Given the description of an element on the screen output the (x, y) to click on. 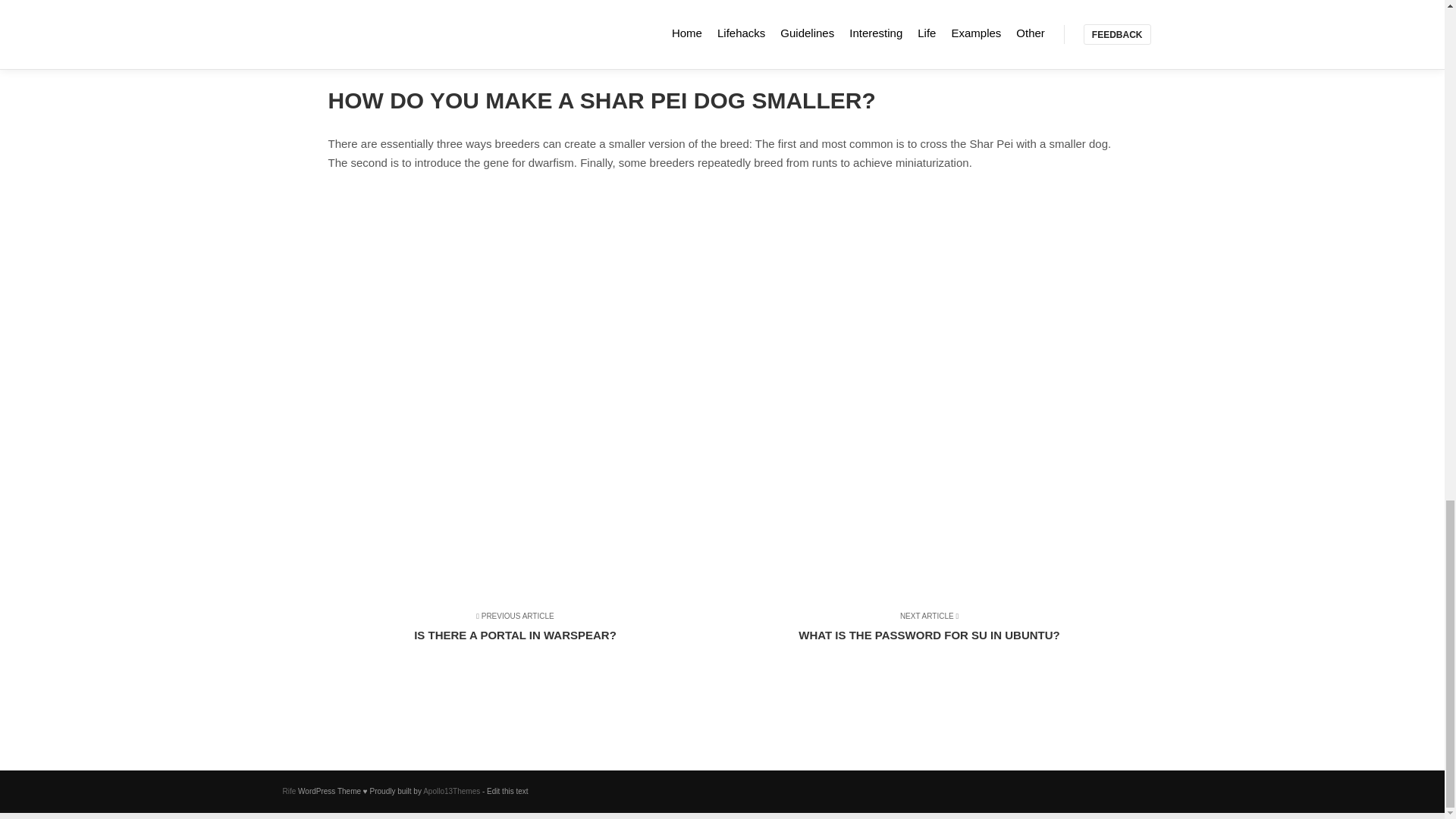
5 Reasons You SHOULD NOT GET A SHAR PEI (524, 633)
Rife (919, 633)
